Given the description of an element on the screen output the (x, y) to click on. 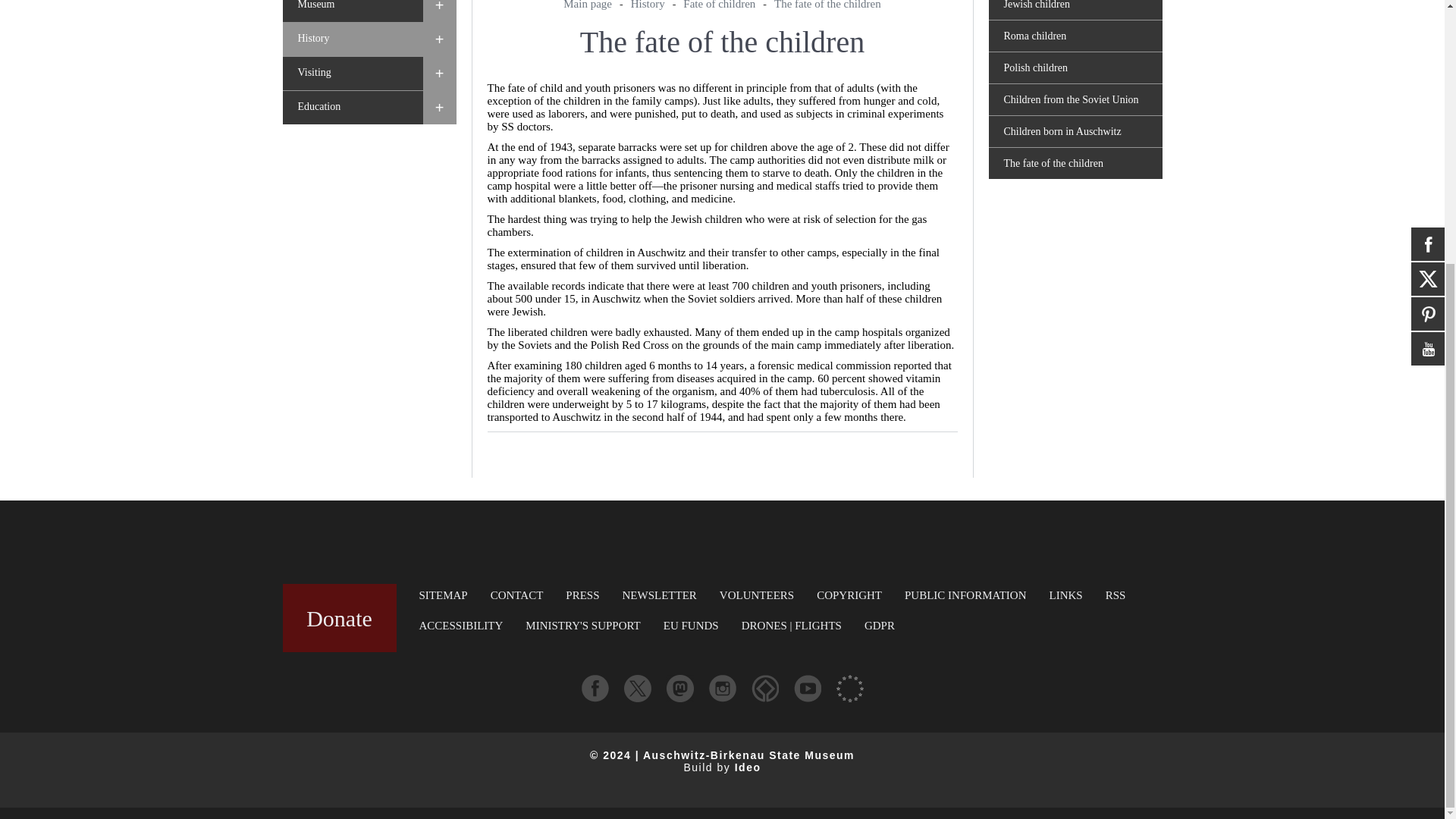
Newsletter (660, 594)
Press (582, 594)
Copyright (849, 594)
Sitemap (443, 594)
GDPR (879, 625)
Volunteers (756, 594)
EU Funds (691, 625)
Museum (352, 11)
RSS (1115, 594)
Contact (516, 594)
